Given the description of an element on the screen output the (x, y) to click on. 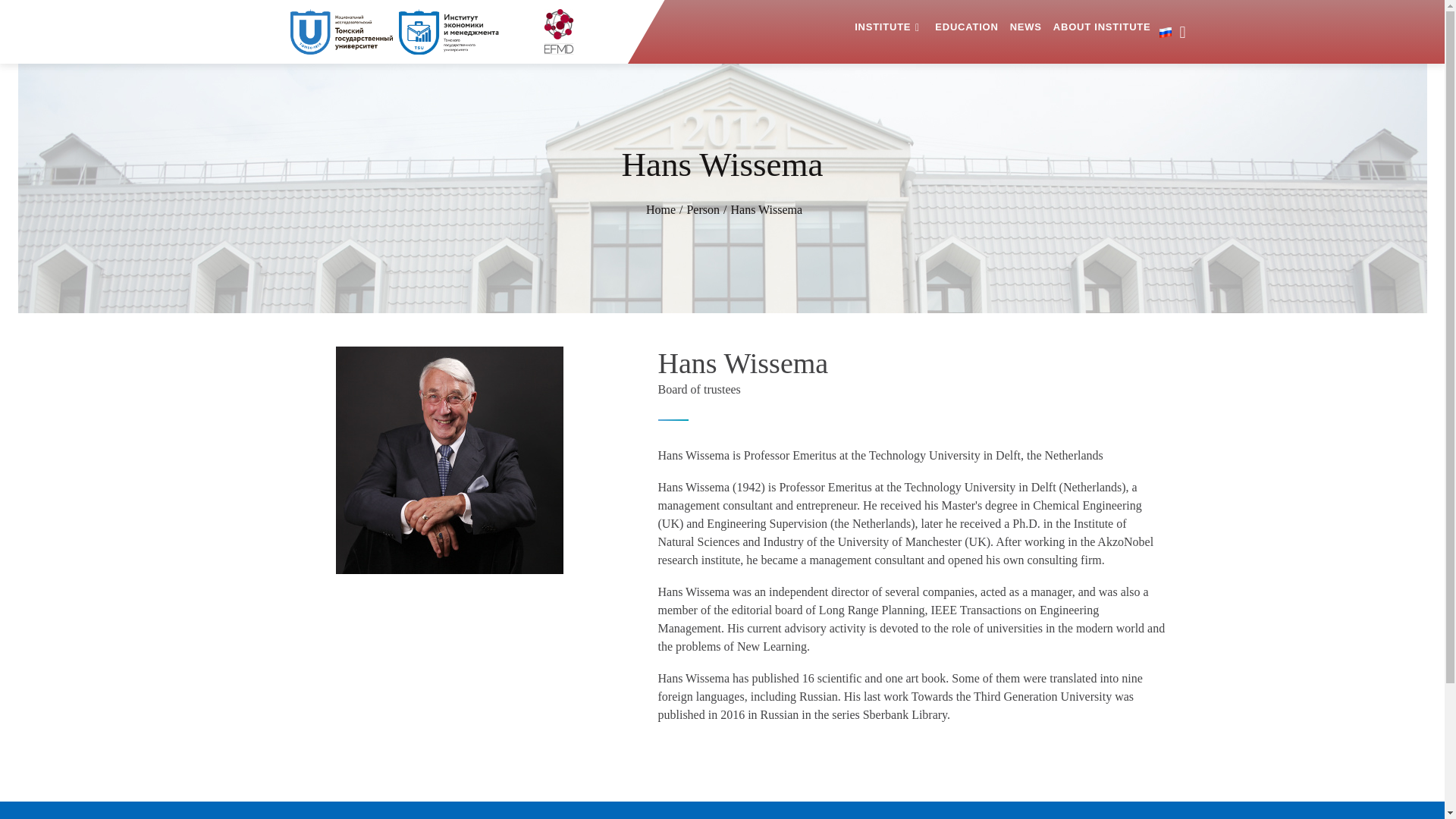
Person (702, 209)
Person (702, 209)
Home (660, 209)
Hans Wissema (448, 460)
Institute of Economics and Management partner EFMD (557, 31)
INSTITUTE (882, 26)
EDUCATION (965, 26)
Board of trustees (699, 389)
ABOUT INSTITUTE (1101, 26)
Institute of Economics and Management partner ACCA (455, 31)
Home (660, 209)
NEWS (1026, 26)
